Given the description of an element on the screen output the (x, y) to click on. 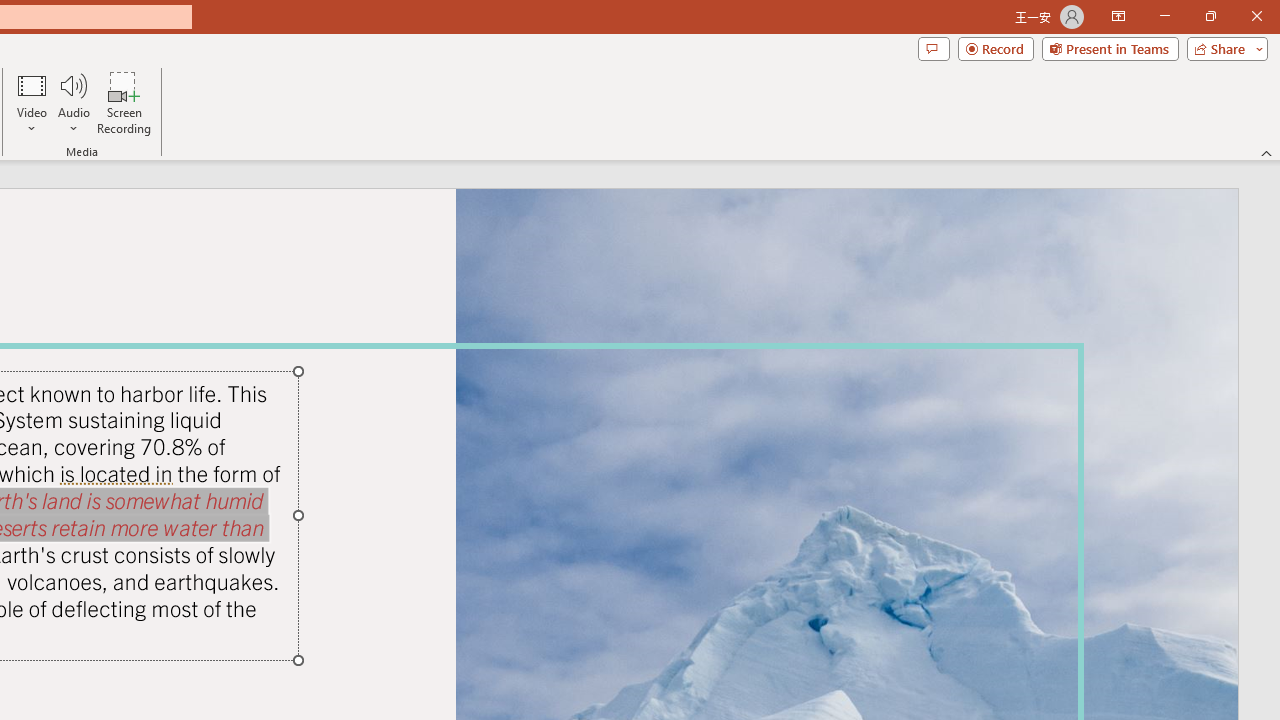
Screen Recording... (123, 102)
Video (31, 102)
